Given the description of an element on the screen output the (x, y) to click on. 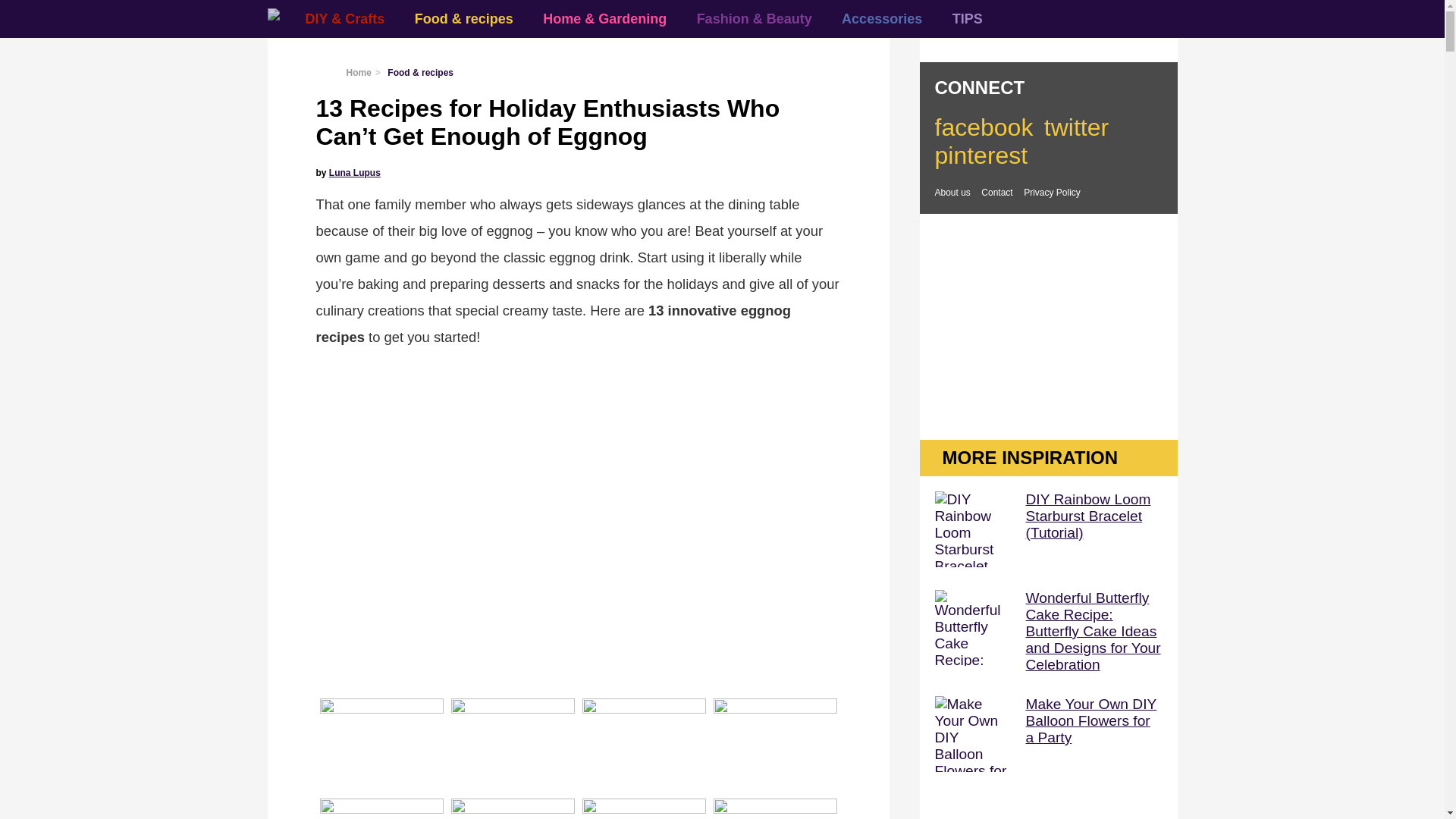
Accessories (882, 18)
Luna Lupus (354, 172)
Home (358, 72)
Luna Lupus (354, 172)
TIPS (967, 18)
